Given the description of an element on the screen output the (x, y) to click on. 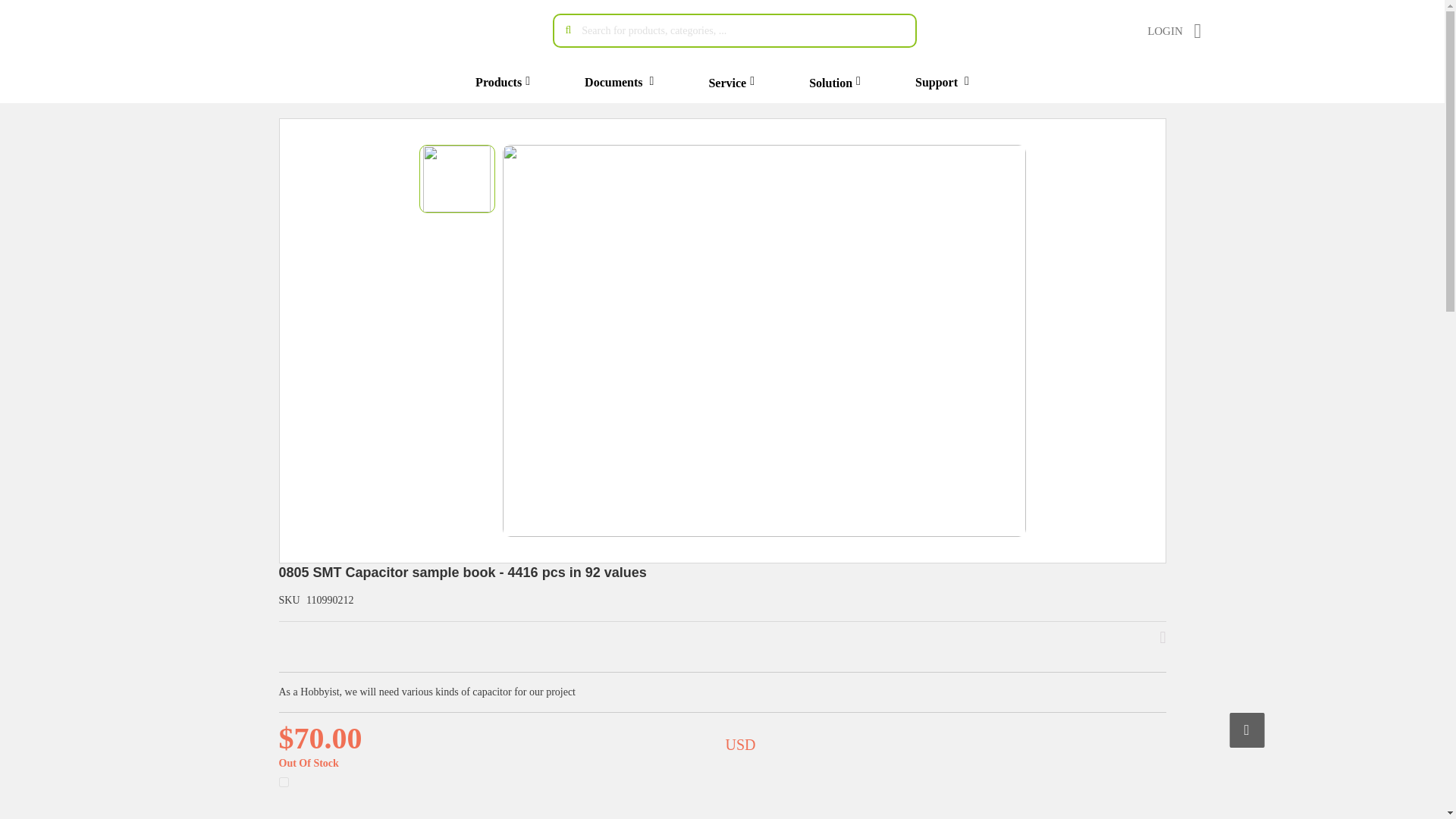
LOGIN (1164, 30)
Service (726, 82)
Availability (309, 763)
on (283, 782)
Solution (830, 82)
